Given the description of an element on the screen output the (x, y) to click on. 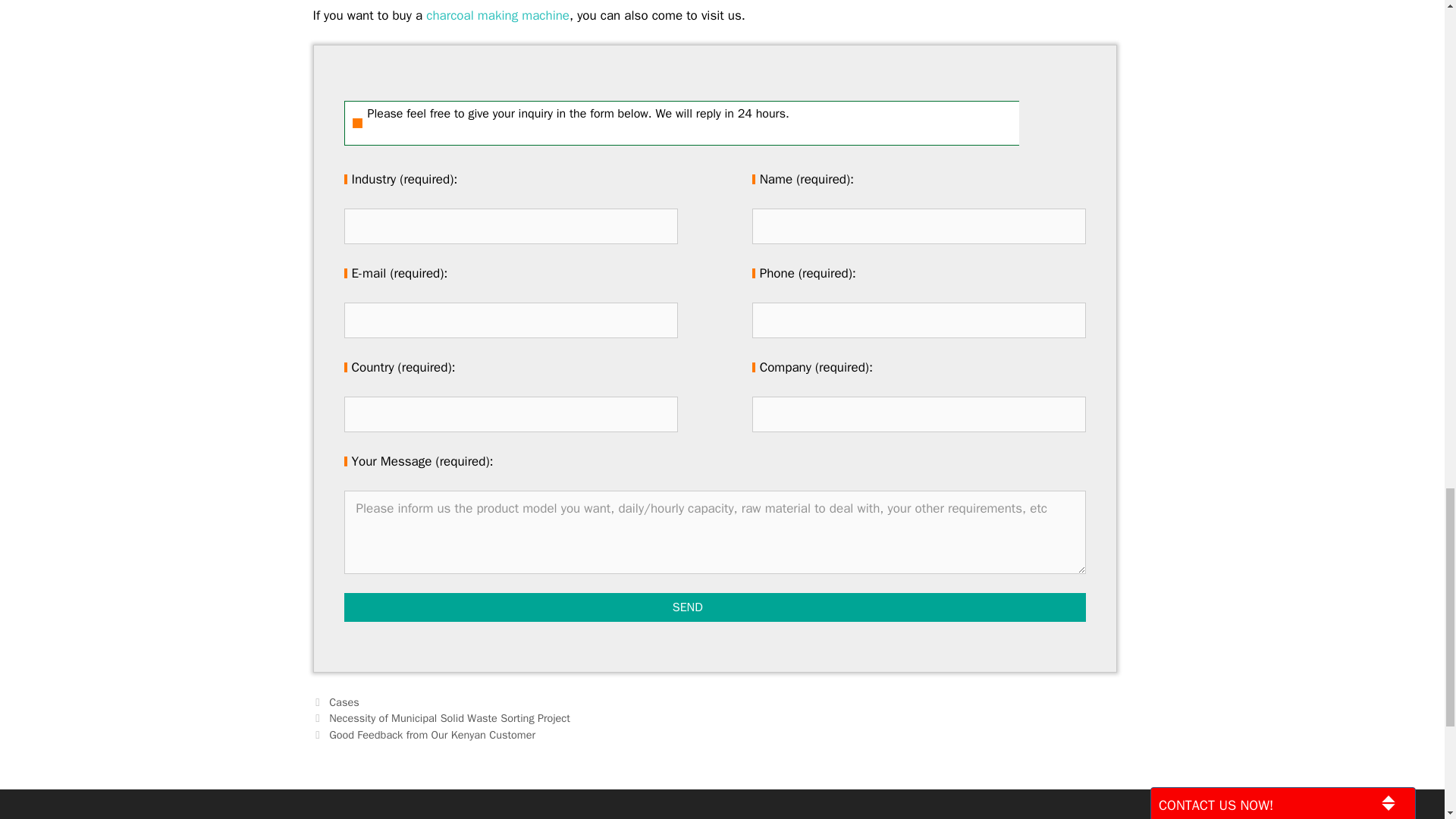
Send (687, 606)
Next (424, 735)
Previous (441, 717)
